Given the description of an element on the screen output the (x, y) to click on. 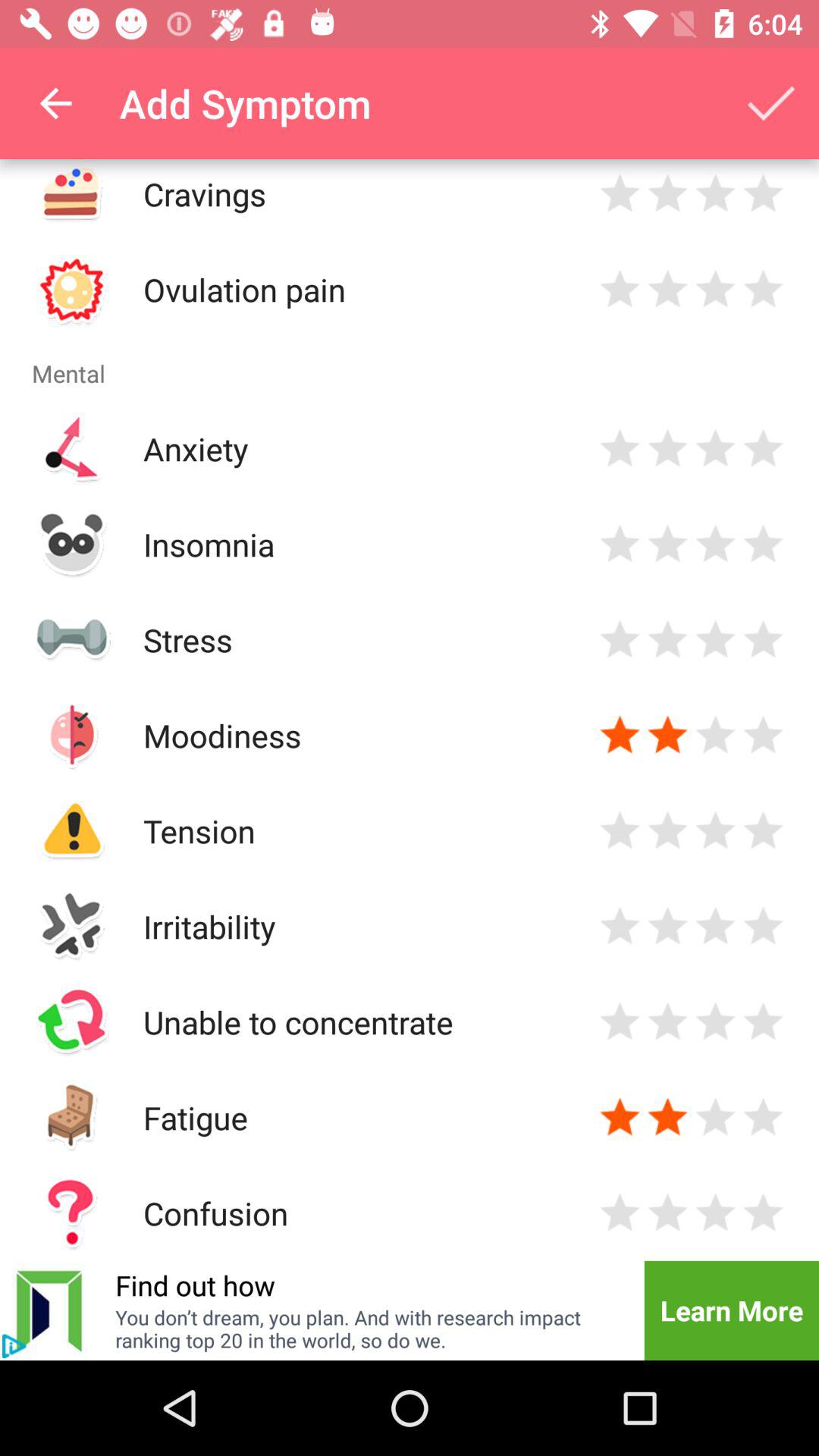
tap the app next to the add symptom (771, 103)
